Given the description of an element on the screen output the (x, y) to click on. 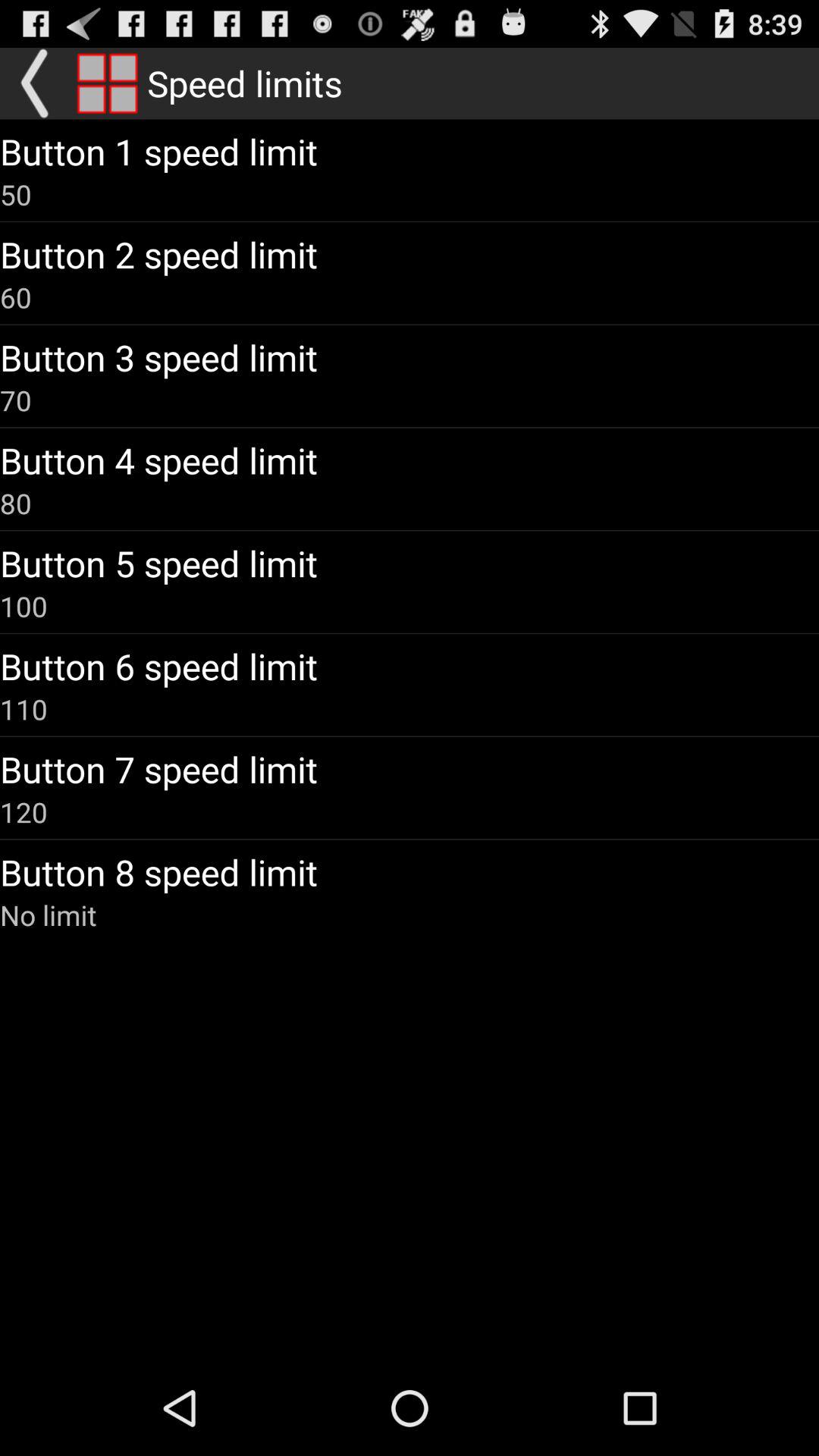
select icon below button 2 speed app (15, 297)
